Given the description of an element on the screen output the (x, y) to click on. 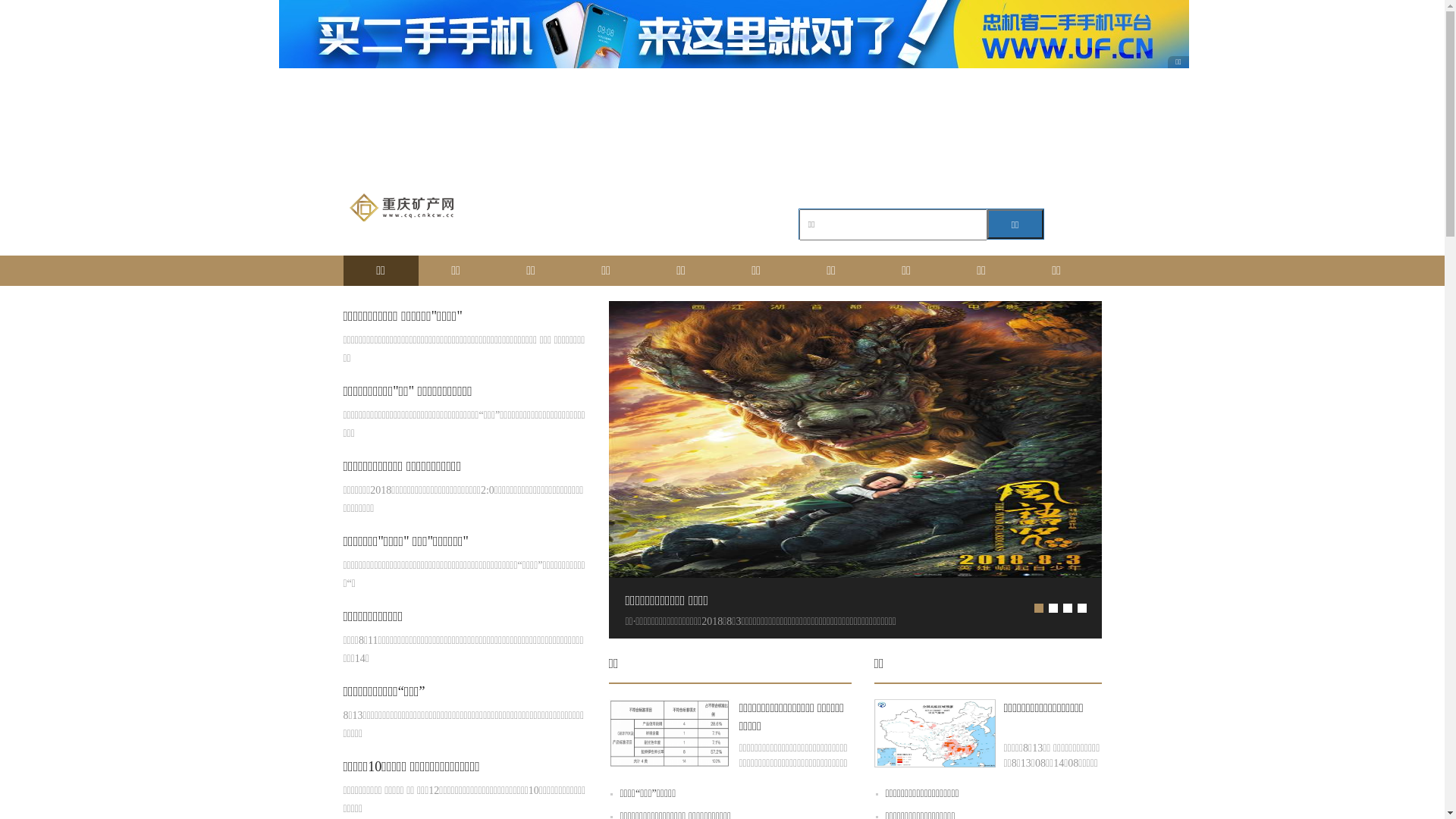
Advertisement Element type: hover (721, 140)
